Given the description of an element on the screen output the (x, y) to click on. 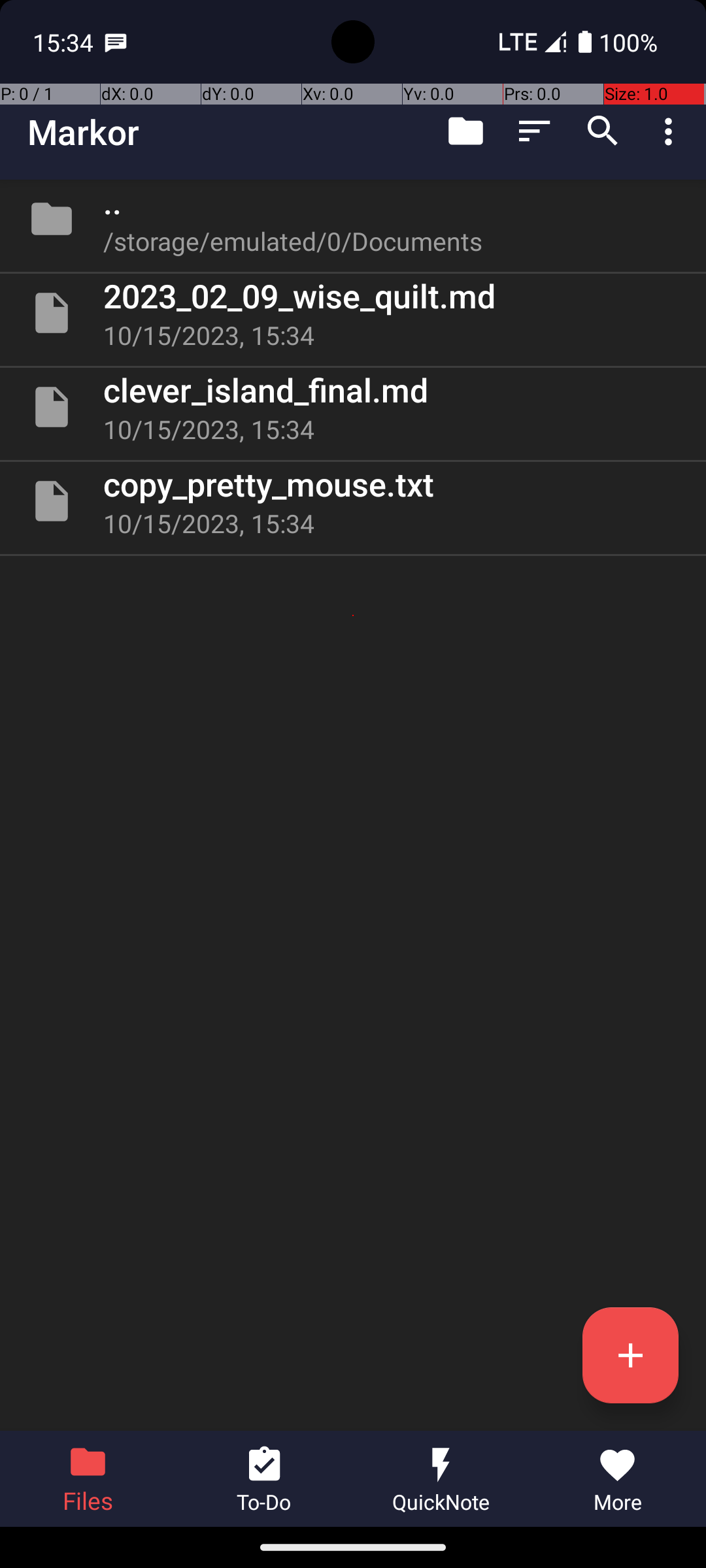
File 2023_02_09_wise_quilt.md  Element type: android.widget.LinearLayout (353, 312)
File clever_island_final.md  Element type: android.widget.LinearLayout (353, 406)
File copy_pretty_mouse.txt  Element type: android.widget.LinearLayout (353, 500)
